Given the description of an element on the screen output the (x, y) to click on. 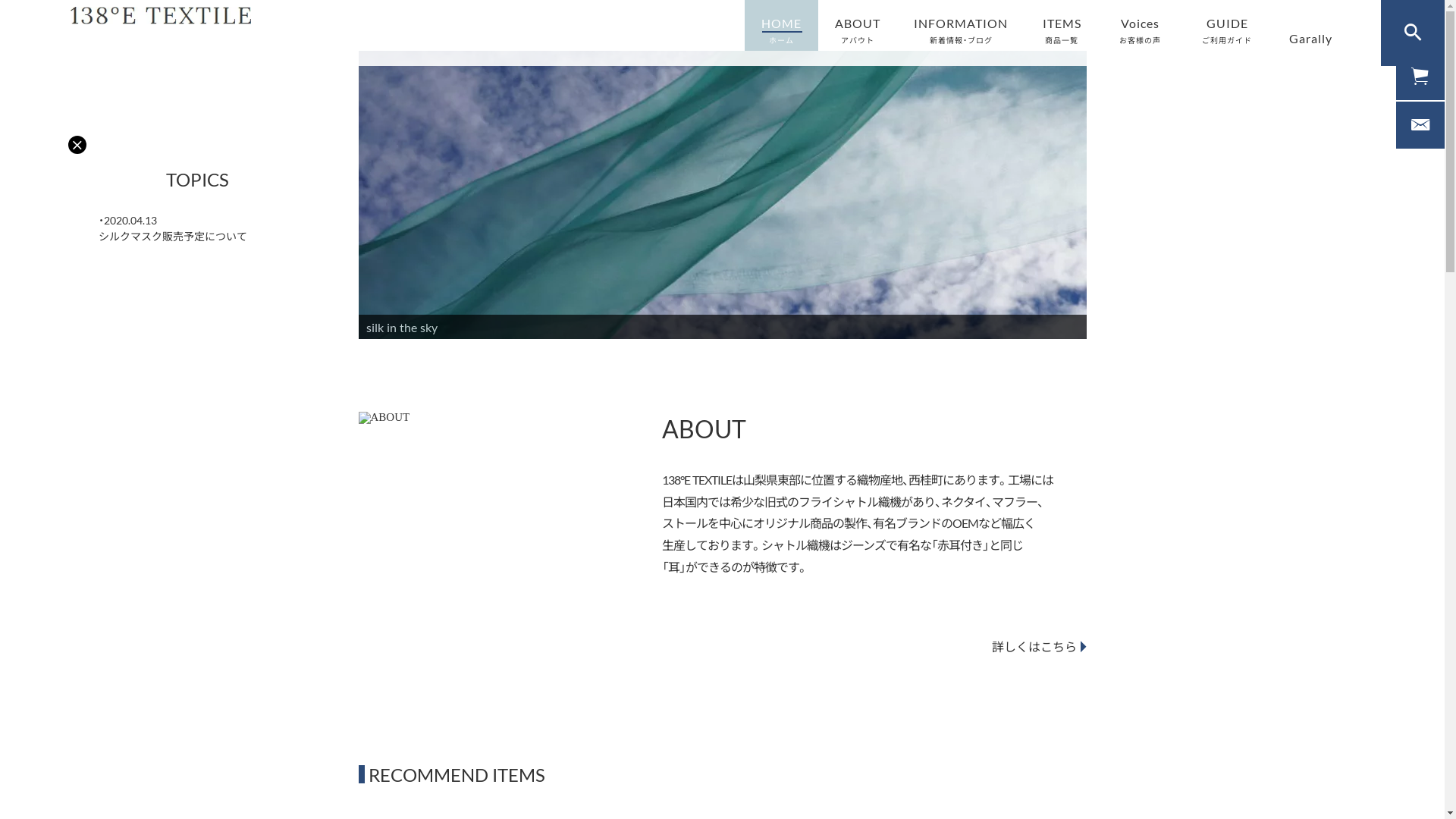
Garally Element type: text (1310, 40)
DSC00011 Element type: hover (721, 194)
